Given the description of an element on the screen output the (x, y) to click on. 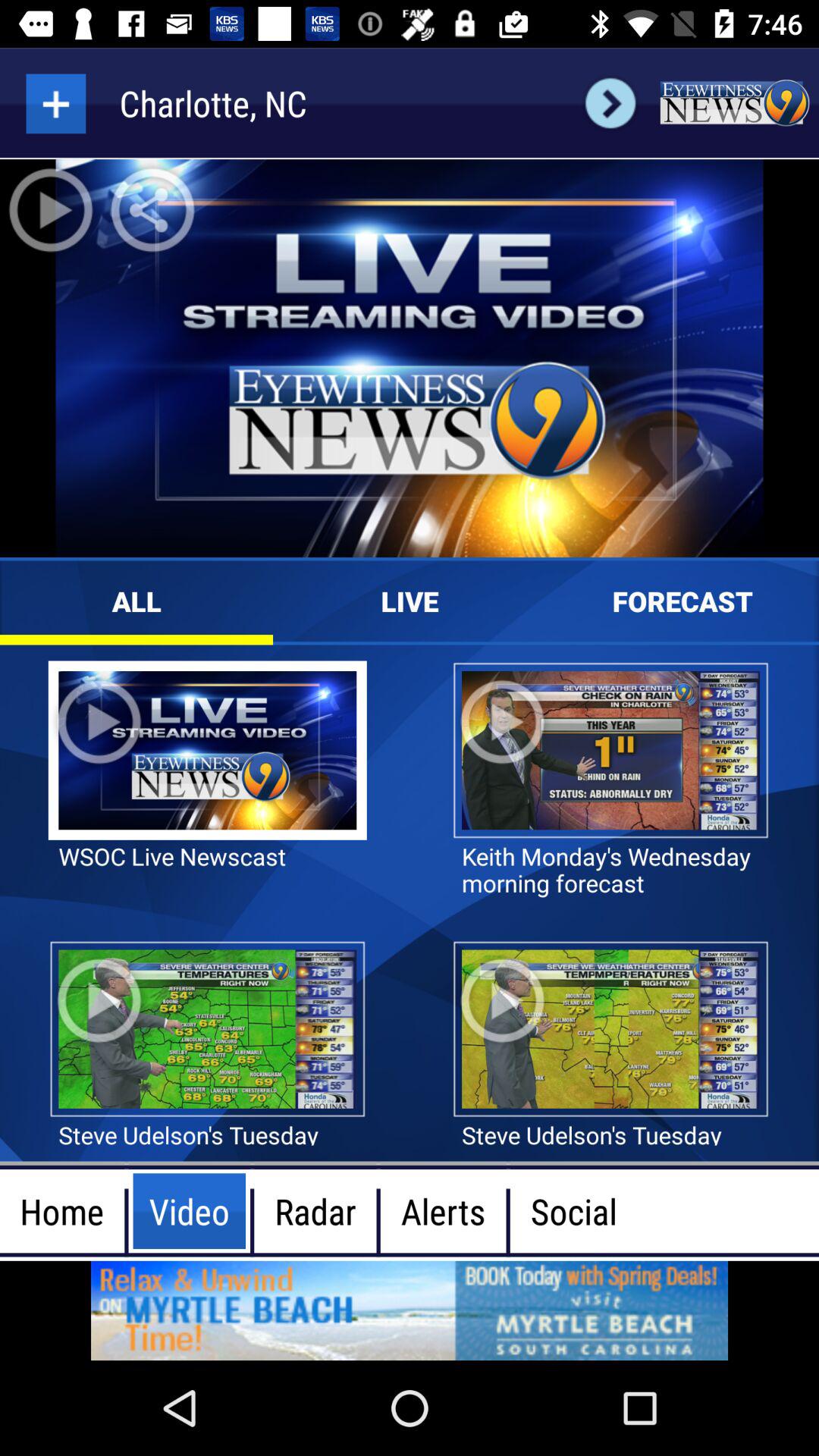
go to next (610, 103)
